Given the description of an element on the screen output the (x, y) to click on. 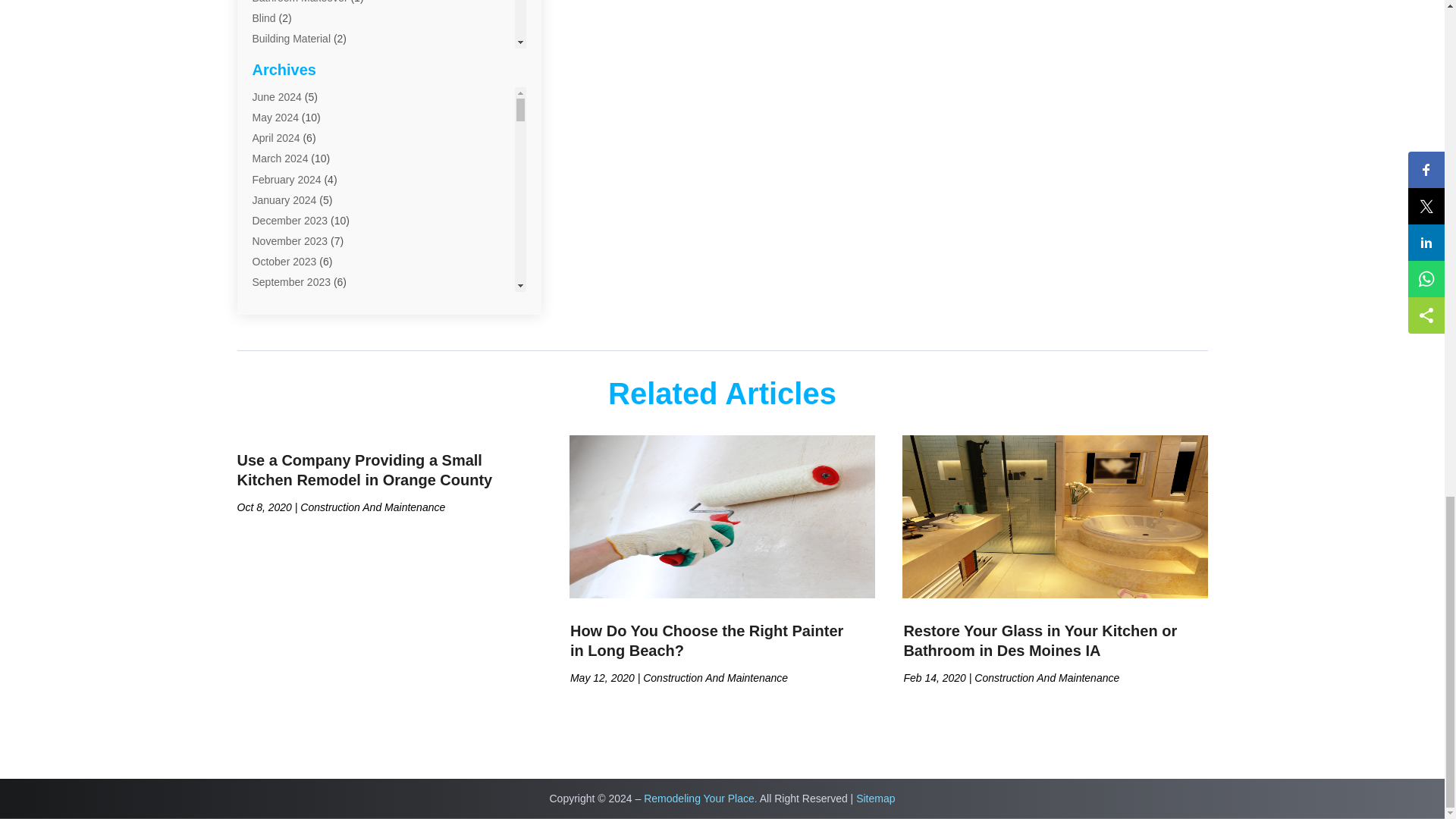
Building Material (290, 38)
Carpet And Floor Cleaners (314, 101)
Business (273, 60)
Cleaning Service (291, 162)
Concrete Contractor (299, 203)
Closet Services (287, 183)
Construction And Maintenance (323, 224)
Blind (263, 18)
Carpenter (274, 80)
Bathroom Makeover (299, 2)
Carpet Cleaning Service (308, 121)
Cleaning (272, 141)
